Given the description of an element on the screen output the (x, y) to click on. 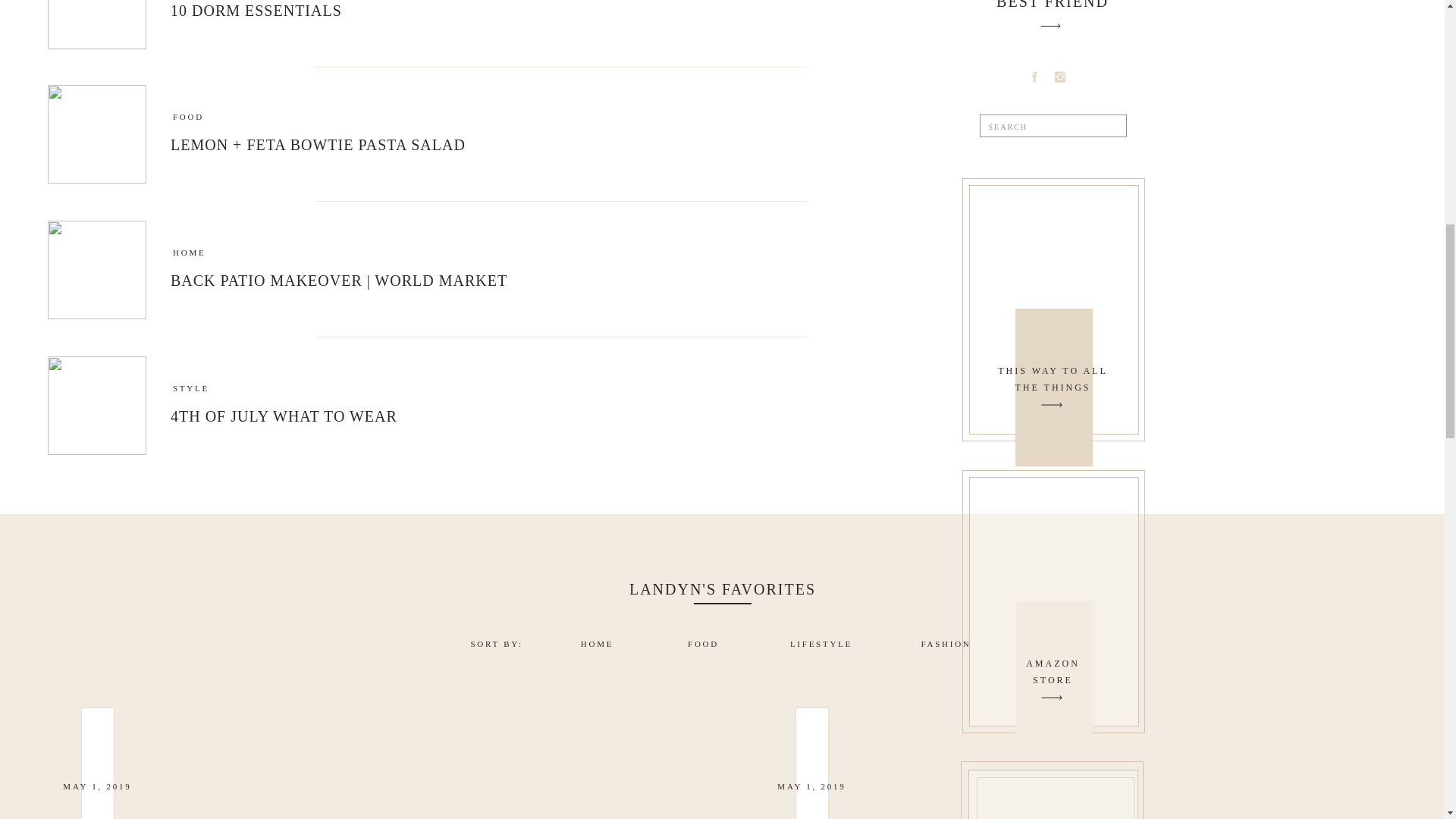
arrow (1051, 697)
arrow (1051, 697)
arrow (1050, 26)
arrow (1050, 26)
arrow (1051, 404)
arrow (1051, 404)
BEST FRIEND (1052, 672)
